Given the description of an element on the screen output the (x, y) to click on. 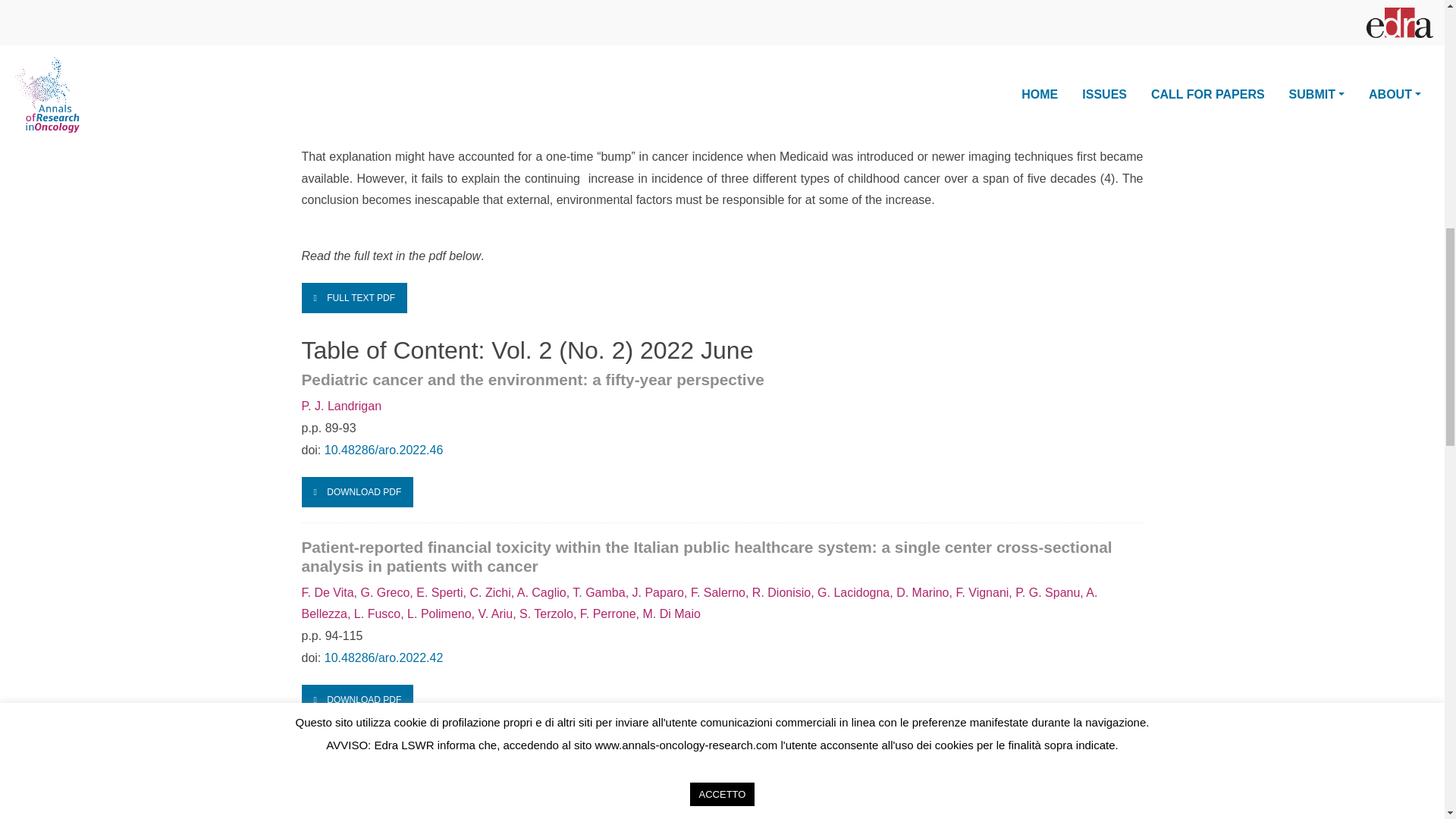
DOWNLOAD PDF (357, 699)
DOWNLOAD PDF (357, 491)
FULL TEXT PDF (354, 297)
